Given the description of an element on the screen output the (x, y) to click on. 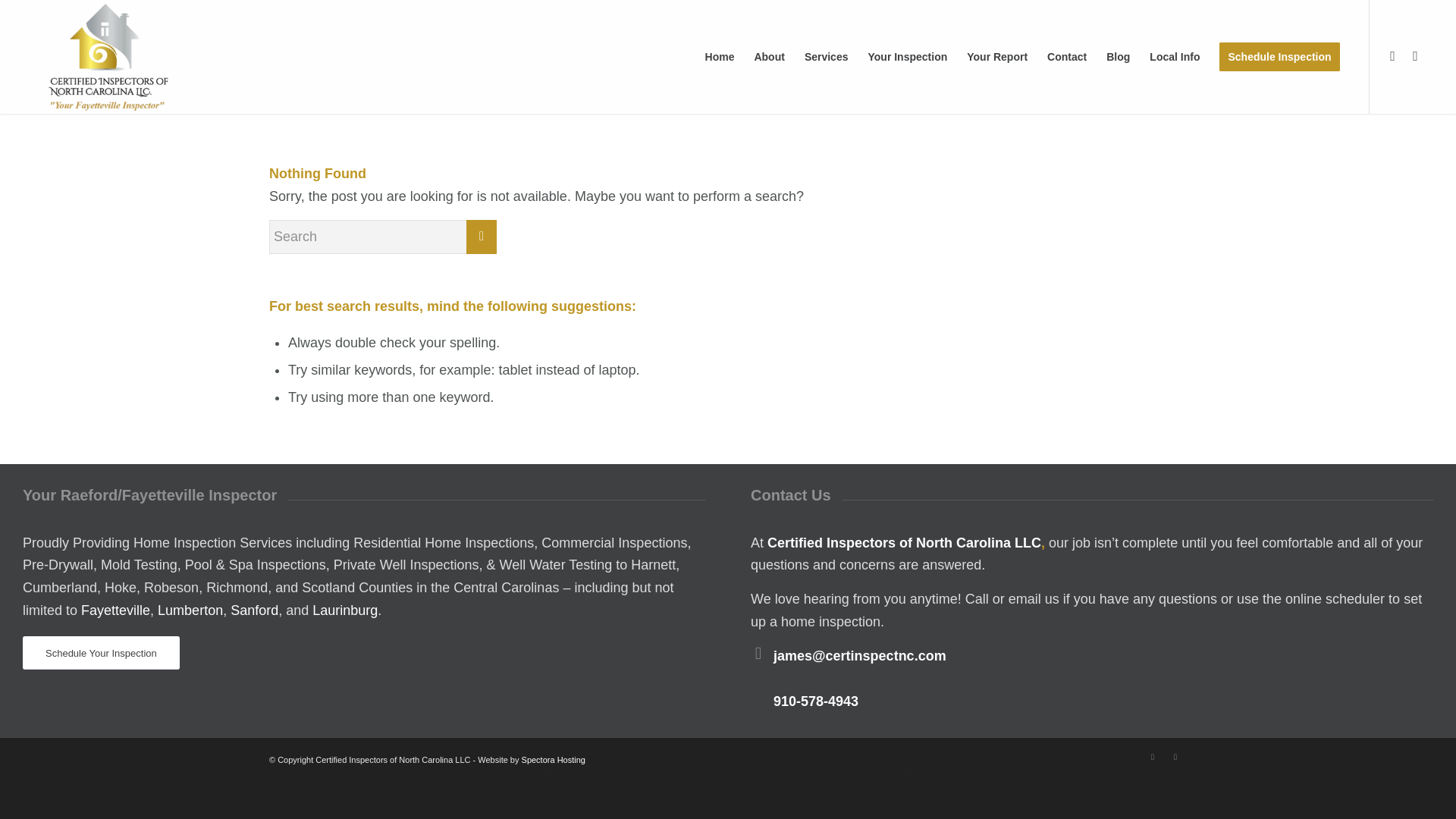
Spectora Hosting (553, 759)
LinkedIn (1174, 756)
Schedule Inspection (1279, 56)
Laurinburg (345, 610)
Schedule Your Inspection (101, 653)
Lumberton (189, 610)
Facebook (1393, 56)
Facebook (1152, 756)
Sanford (254, 610)
910-578-4943 (816, 701)
